Given the description of an element on the screen output the (x, y) to click on. 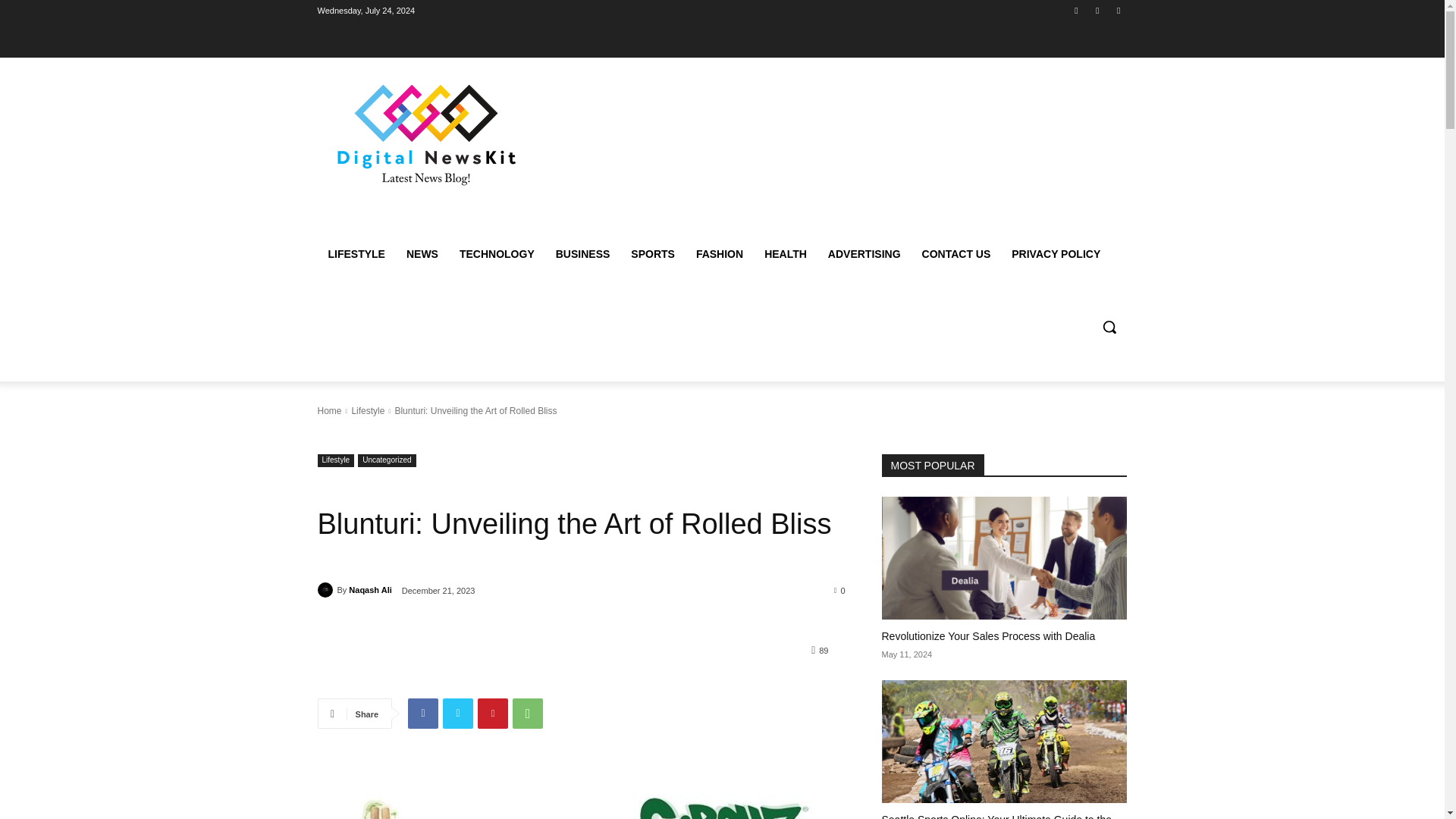
View all posts in Lifestyle (367, 410)
Skype (1097, 9)
FASHION (719, 253)
Lifestyle (367, 410)
BUSINESS (582, 253)
ADVERTISING (863, 253)
TECHNOLOGY (496, 253)
SPORTS (652, 253)
Home (328, 410)
Naqash Ali (370, 589)
LIFESTYLE (355, 253)
CONTACT US (956, 253)
Youtube (1117, 9)
PRIVACY POLICY (1055, 253)
Instagram (1075, 9)
